Given the description of an element on the screen output the (x, y) to click on. 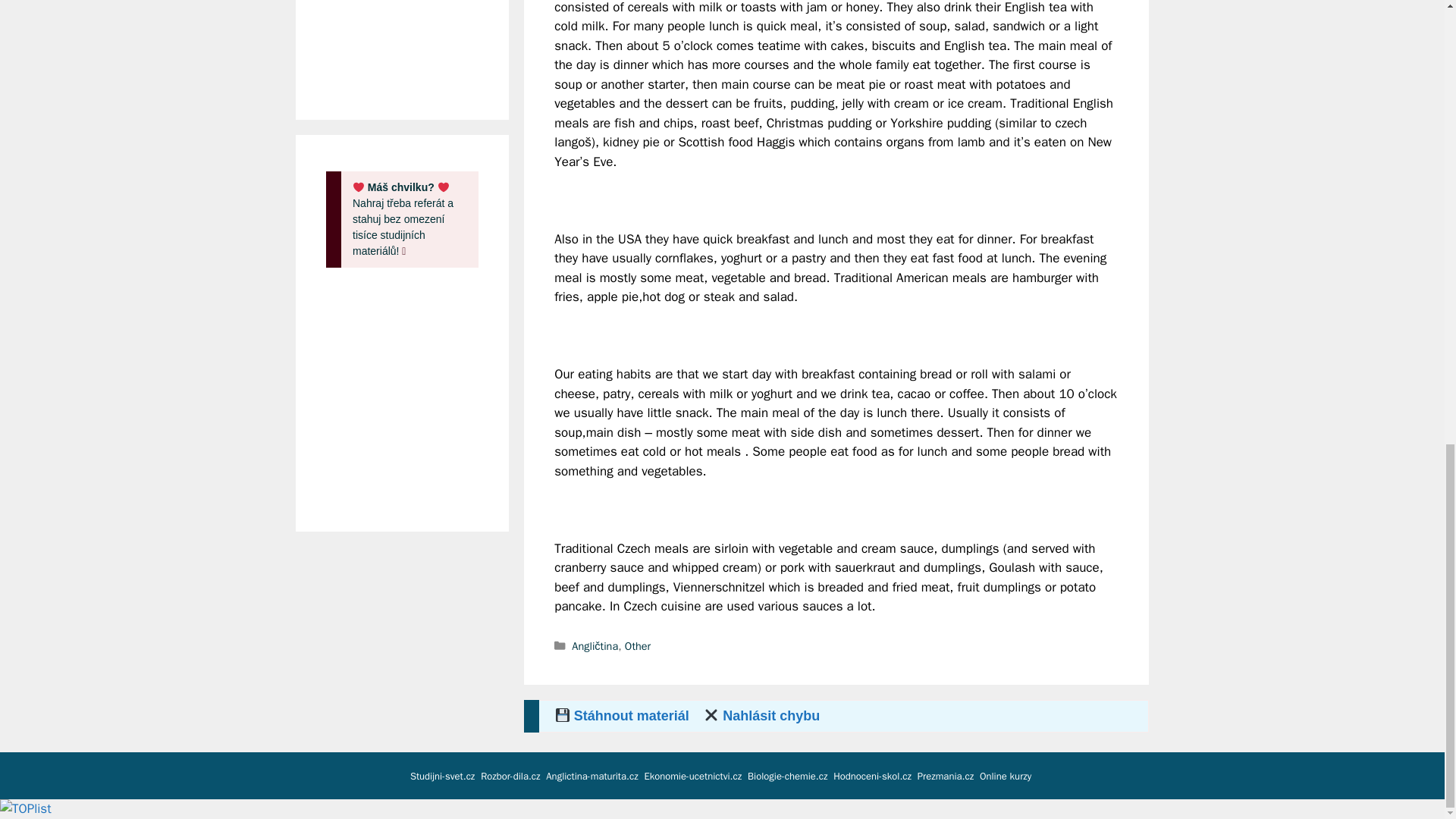
Advertisement (421, 41)
